Given the description of an element on the screen output the (x, y) to click on. 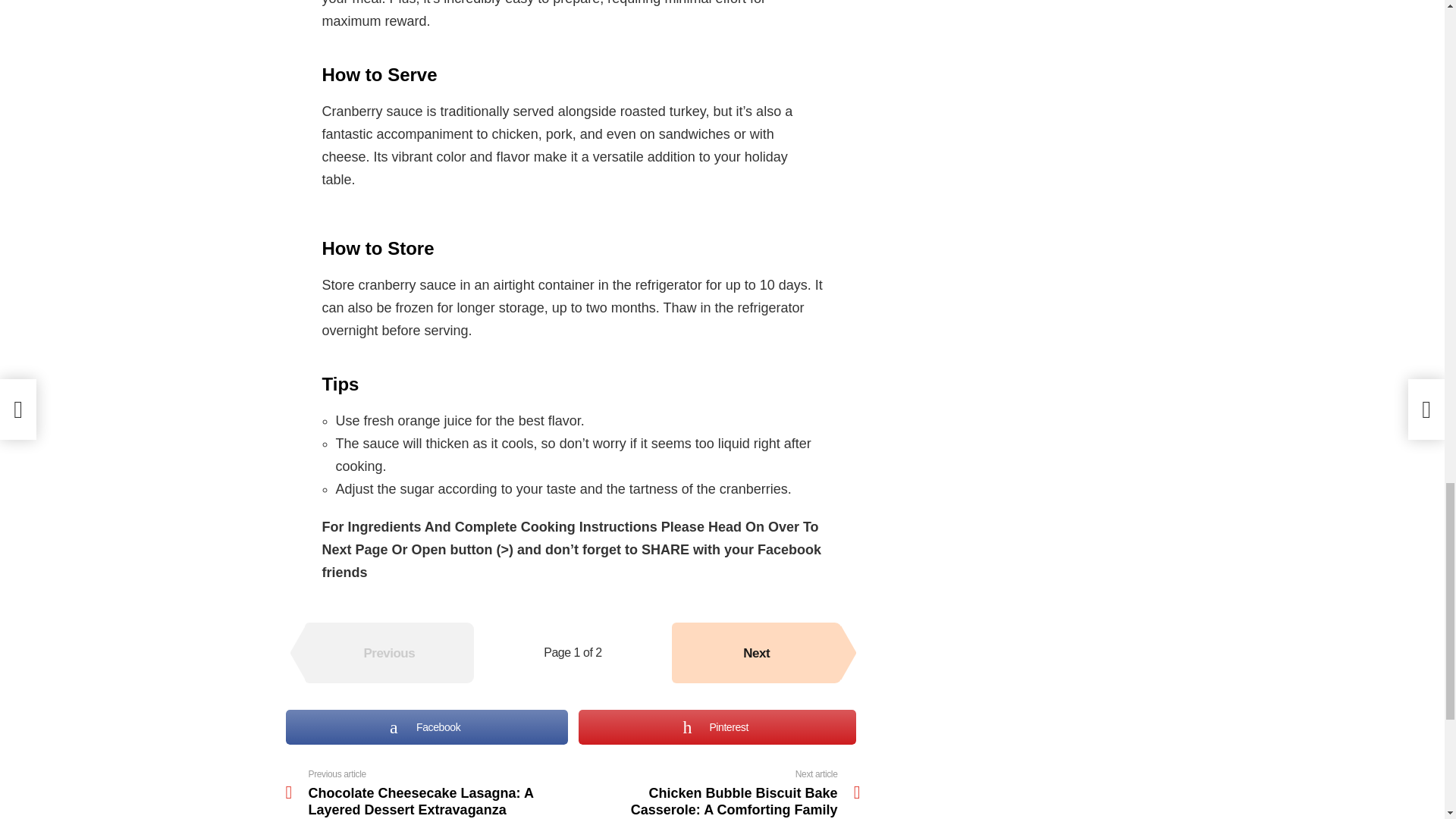
Facebook (426, 727)
Share on Facebook (426, 727)
Next (756, 652)
Pinterest (717, 727)
